Given the description of an element on the screen output the (x, y) to click on. 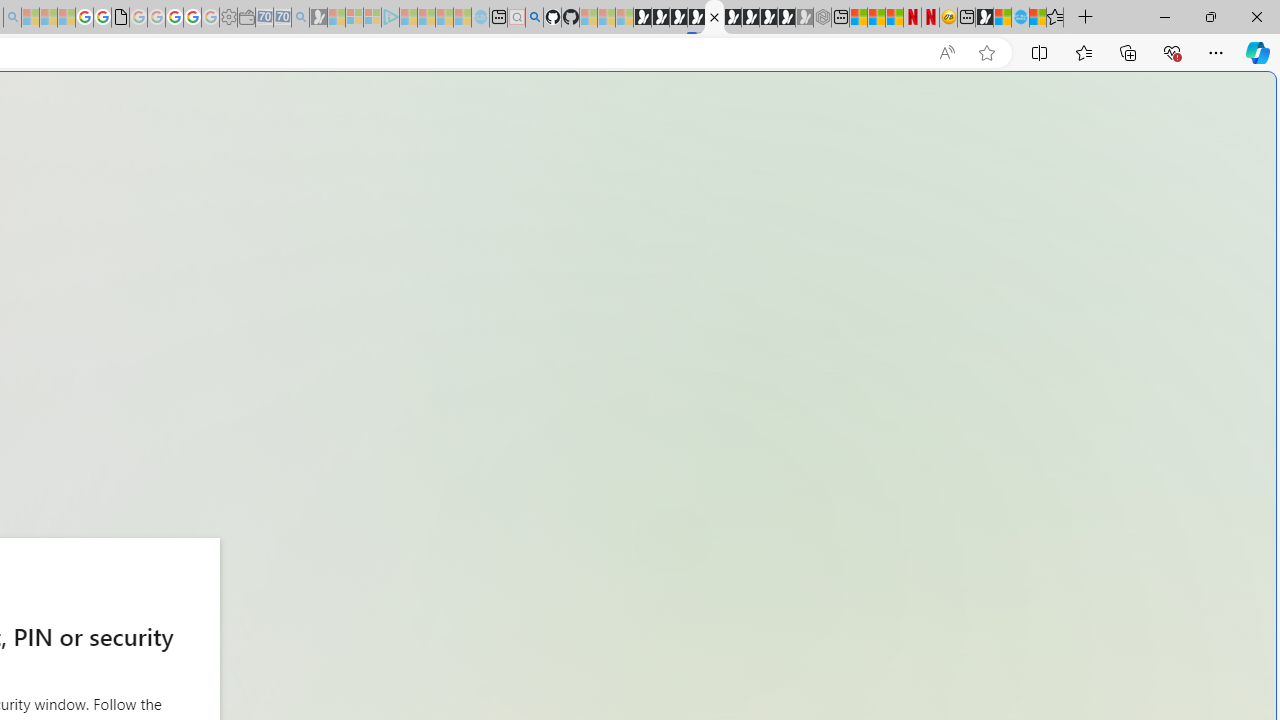
Home | Sky Blue Bikes - Sky Blue Bikes (687, 426)
Settings - Sleeping (228, 17)
